Given the description of an element on the screen output the (x, y) to click on. 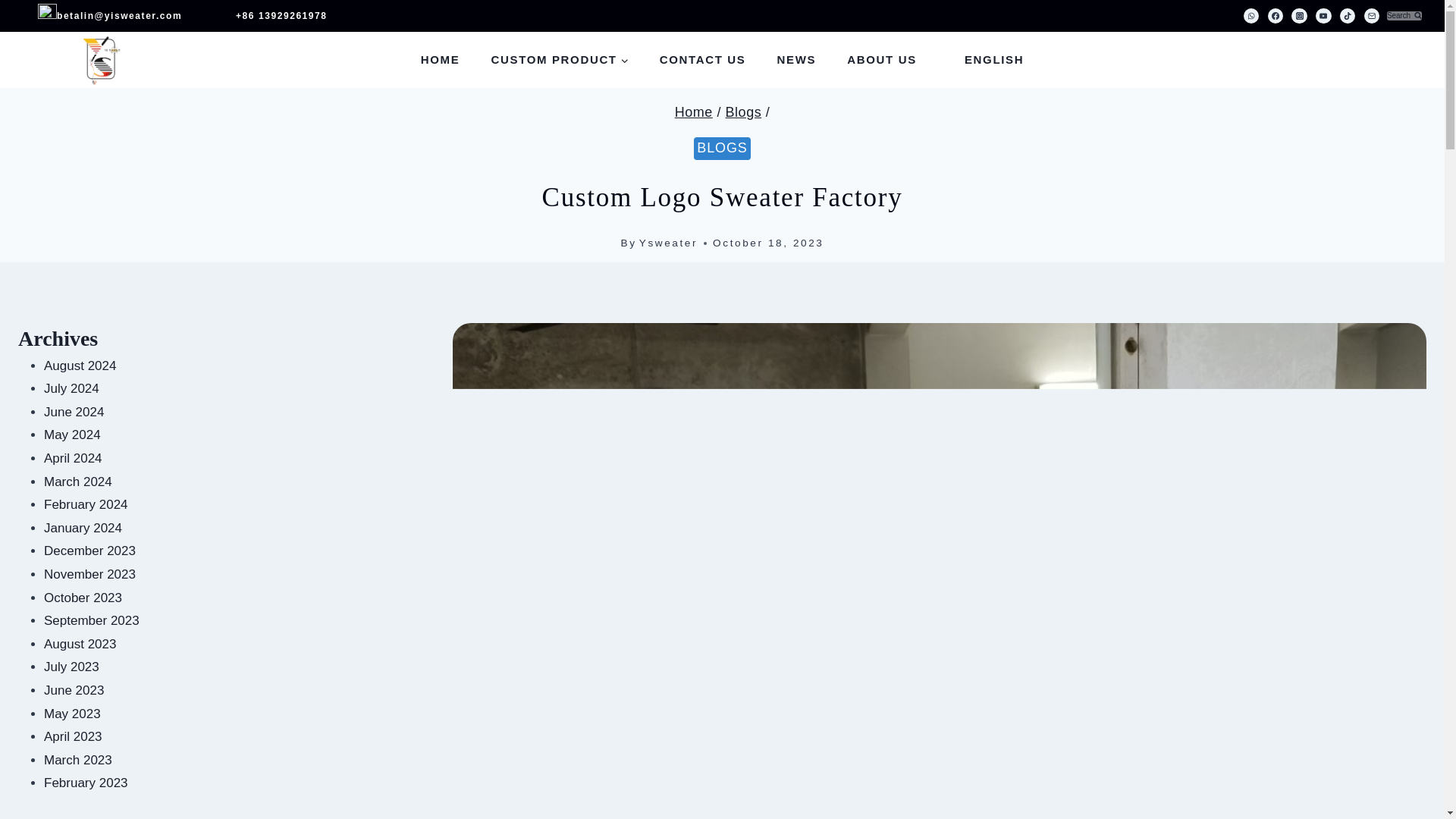
CUSTOM PRODUCT (559, 59)
HOME (440, 59)
ABOUT US (882, 59)
ENGLISH (985, 59)
NEWS (796, 59)
CONTACT US (702, 59)
Search (1404, 15)
